Given the description of an element on the screen output the (x, y) to click on. 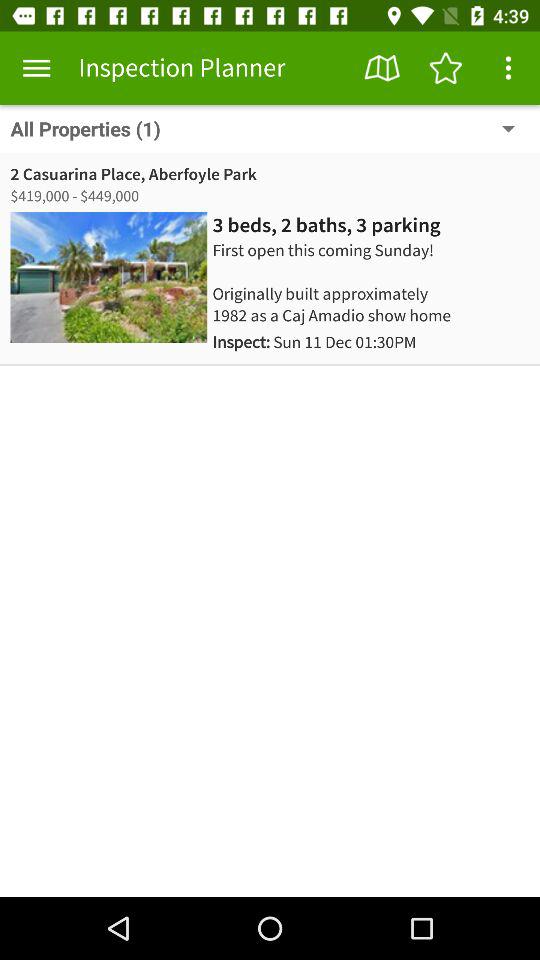
choose the item to the right of the inspection planner app (381, 67)
